Given the description of an element on the screen output the (x, y) to click on. 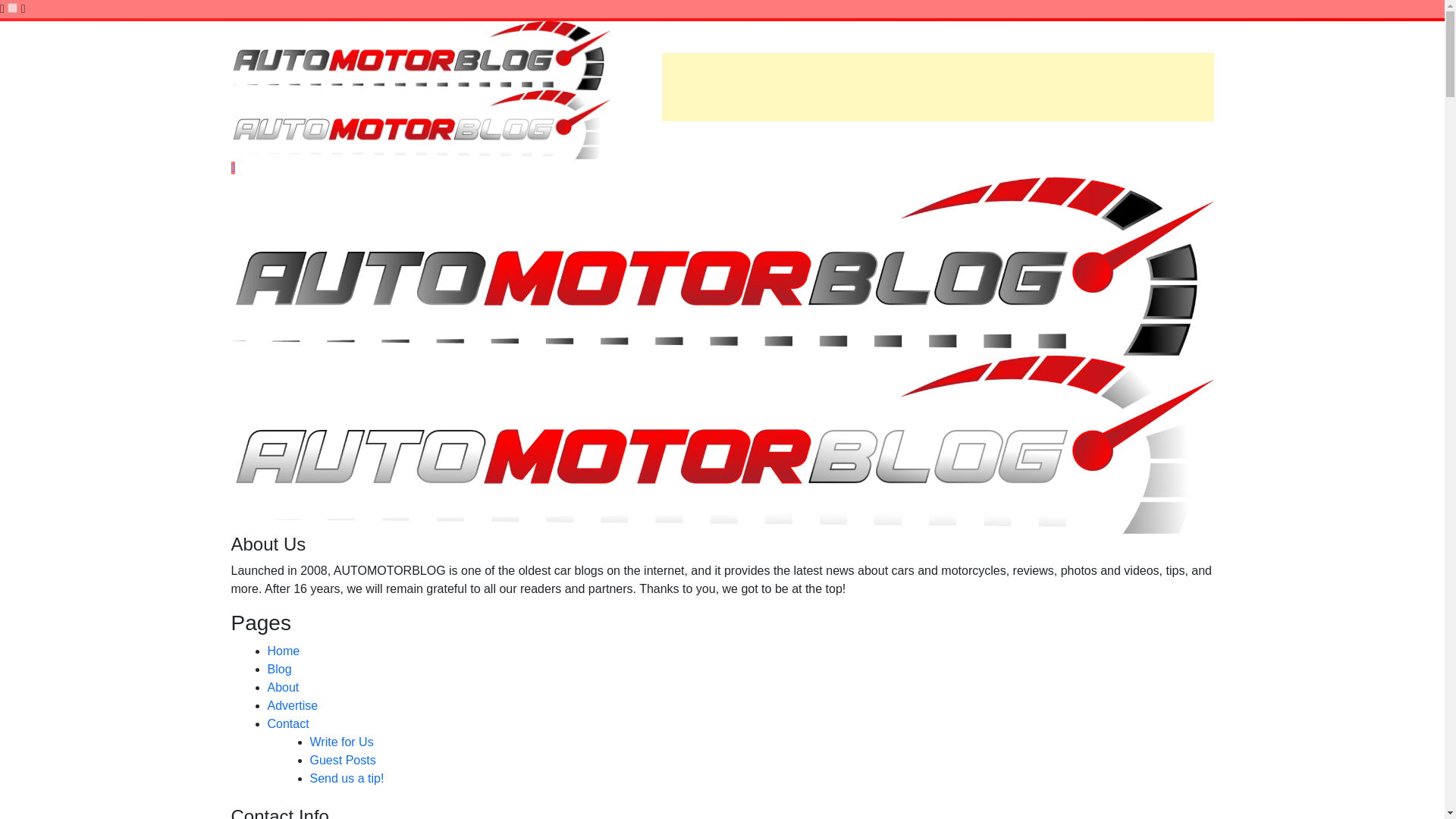
Home (282, 650)
Advertise (291, 705)
Contact (287, 723)
on (12, 8)
Write for Us (340, 741)
Send us a tip! (346, 778)
Guest Posts (341, 759)
Blog (278, 668)
About (282, 686)
